Given the description of an element on the screen output the (x, y) to click on. 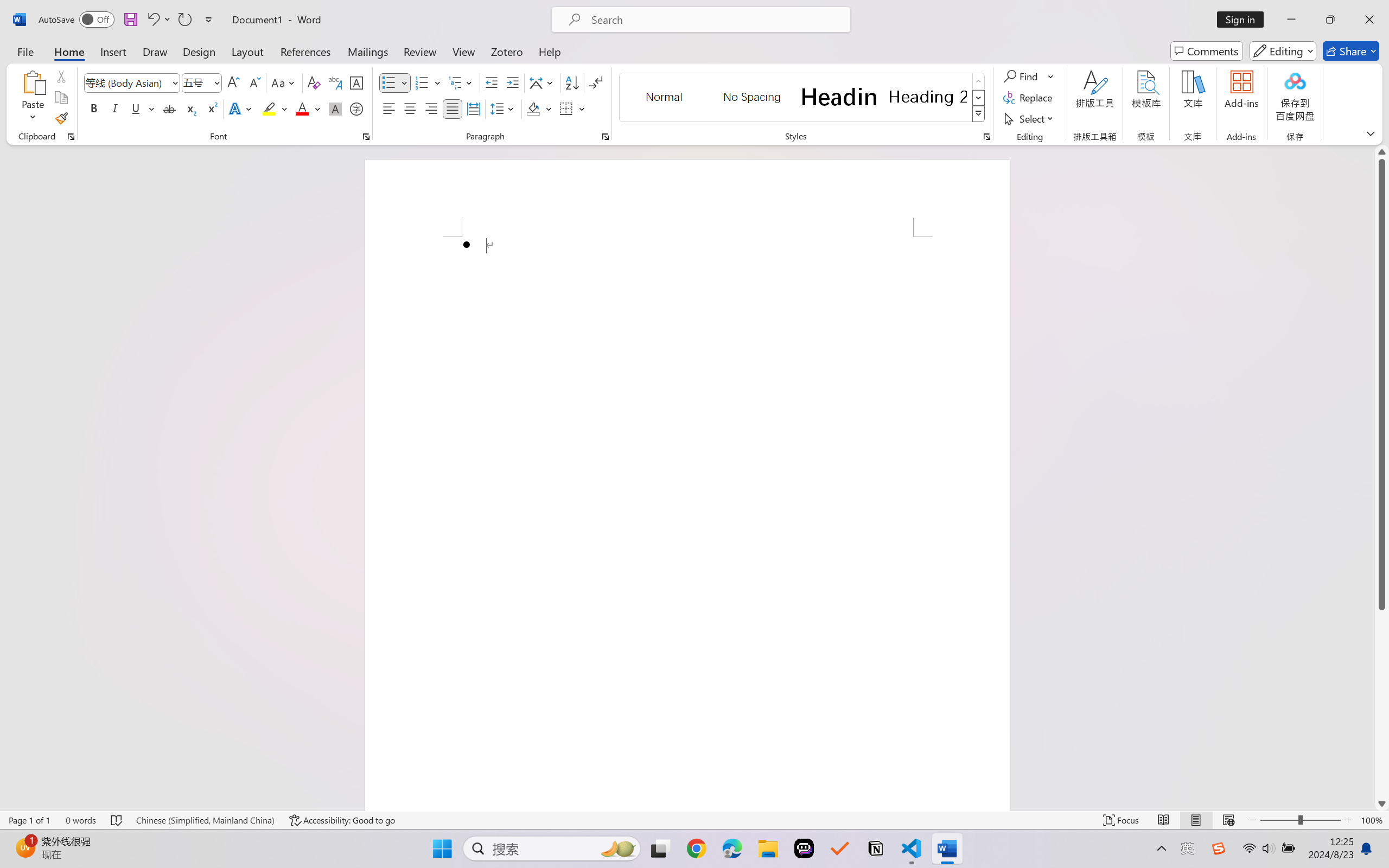
AutomationID: QuickStylesGallery (802, 97)
